Given the description of an element on the screen output the (x, y) to click on. 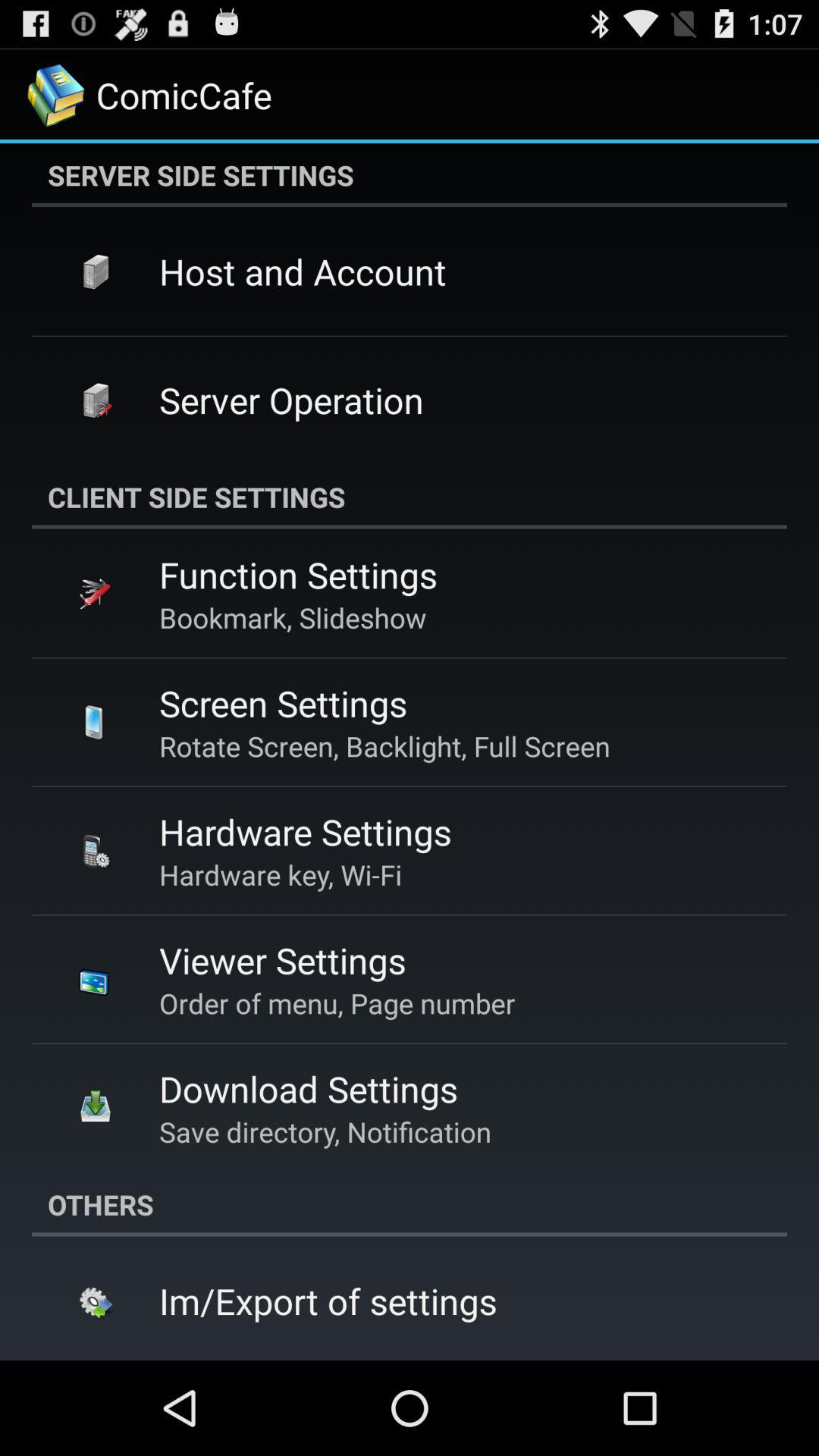
select the function settings app (298, 574)
